Given the description of an element on the screen output the (x, y) to click on. 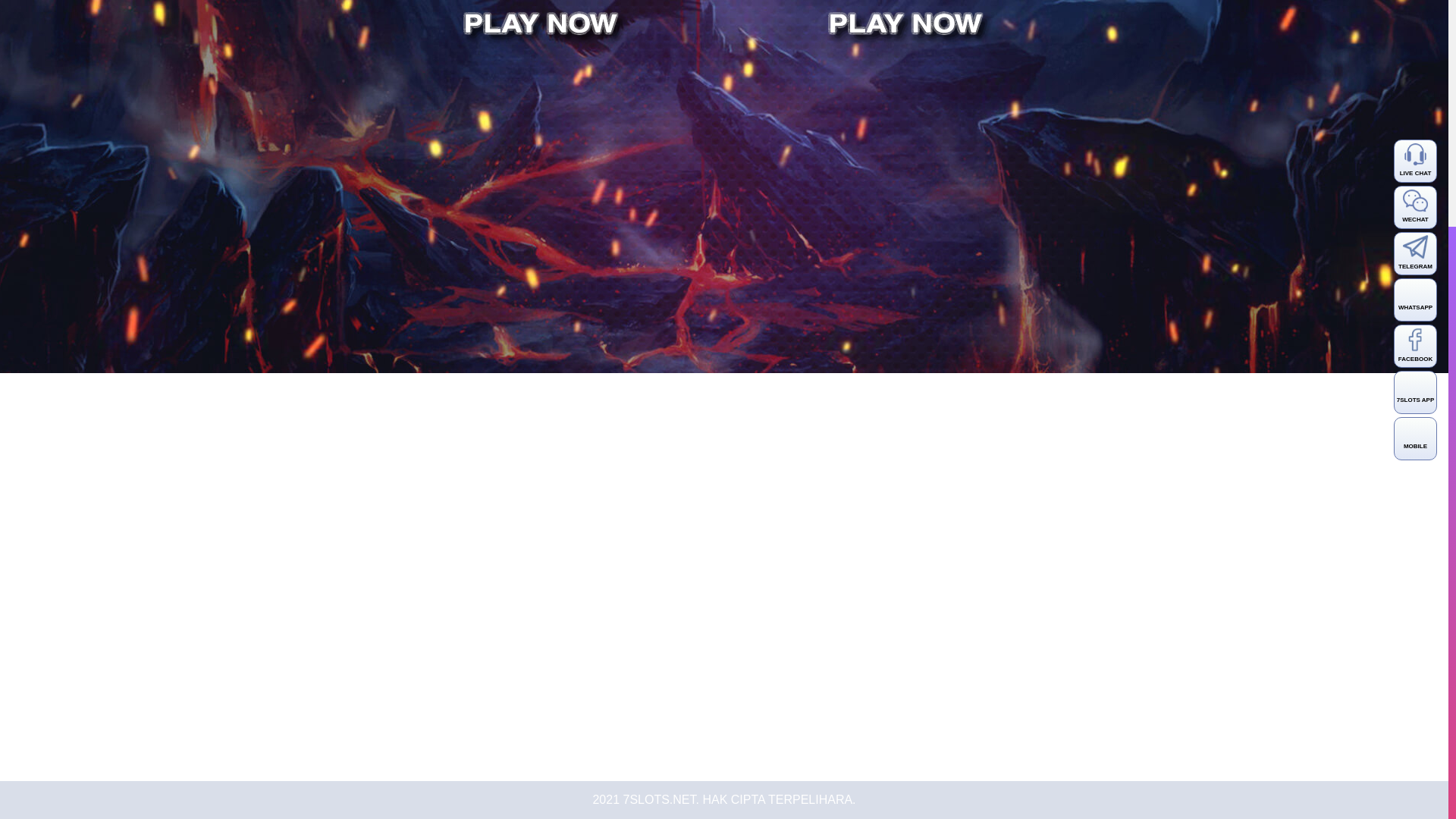
MOBILE (1414, 124)
FACEBOOK (1414, 32)
7SLOTS APP (1414, 78)
WHATSAPP (1414, 3)
